Given the description of an element on the screen output the (x, y) to click on. 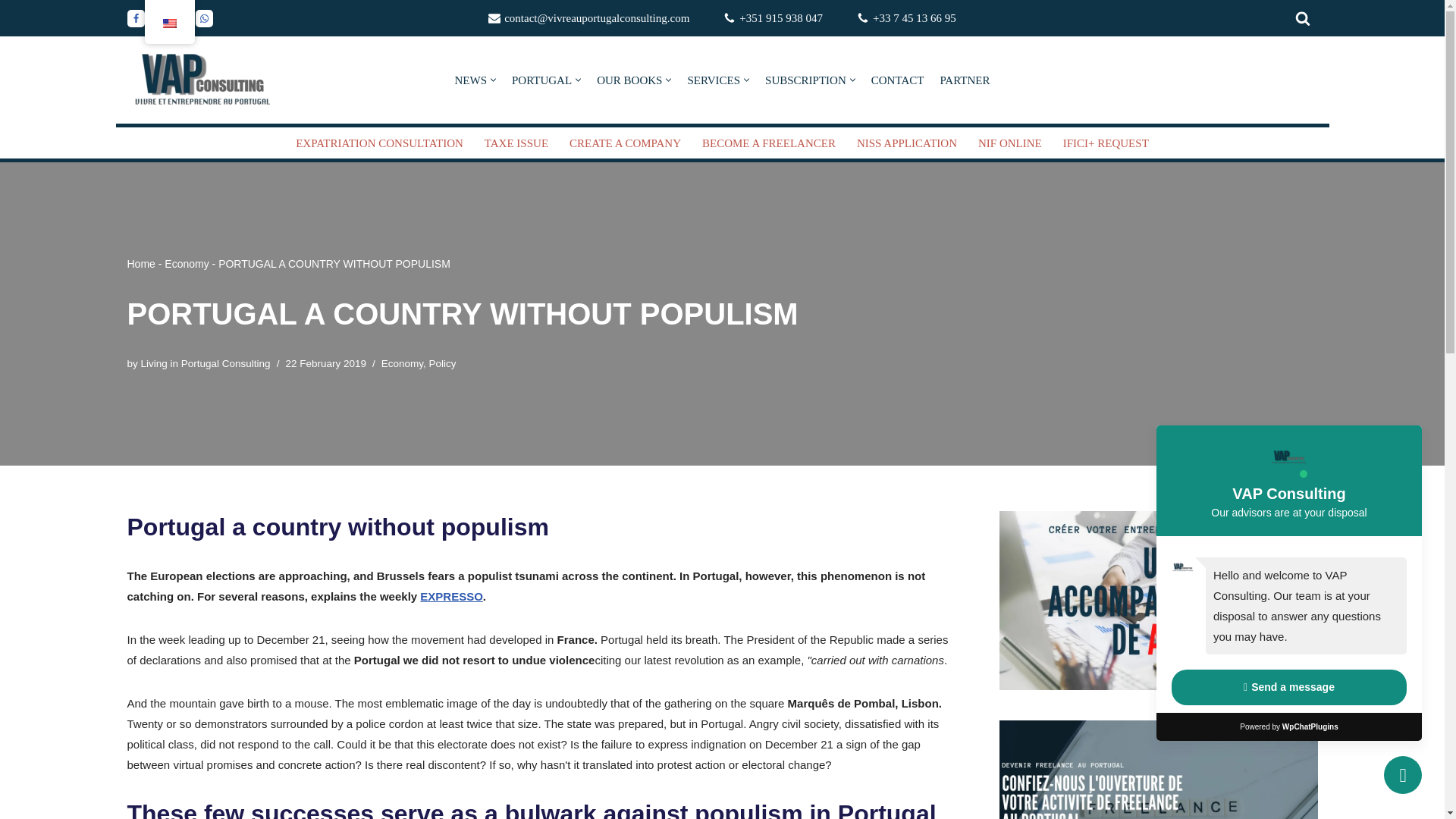
Whatsapp (203, 17)
Facebook (136, 17)
Linkedin (158, 17)
OUR BOOKS (629, 79)
Instagram (181, 17)
Aller au contenu (11, 31)
English (168, 22)
SERVICES (713, 79)
NEWS (470, 79)
PORTUGAL (542, 79)
Posts by Vivre au Portugal Consulting (205, 363)
